Given the description of an element on the screen output the (x, y) to click on. 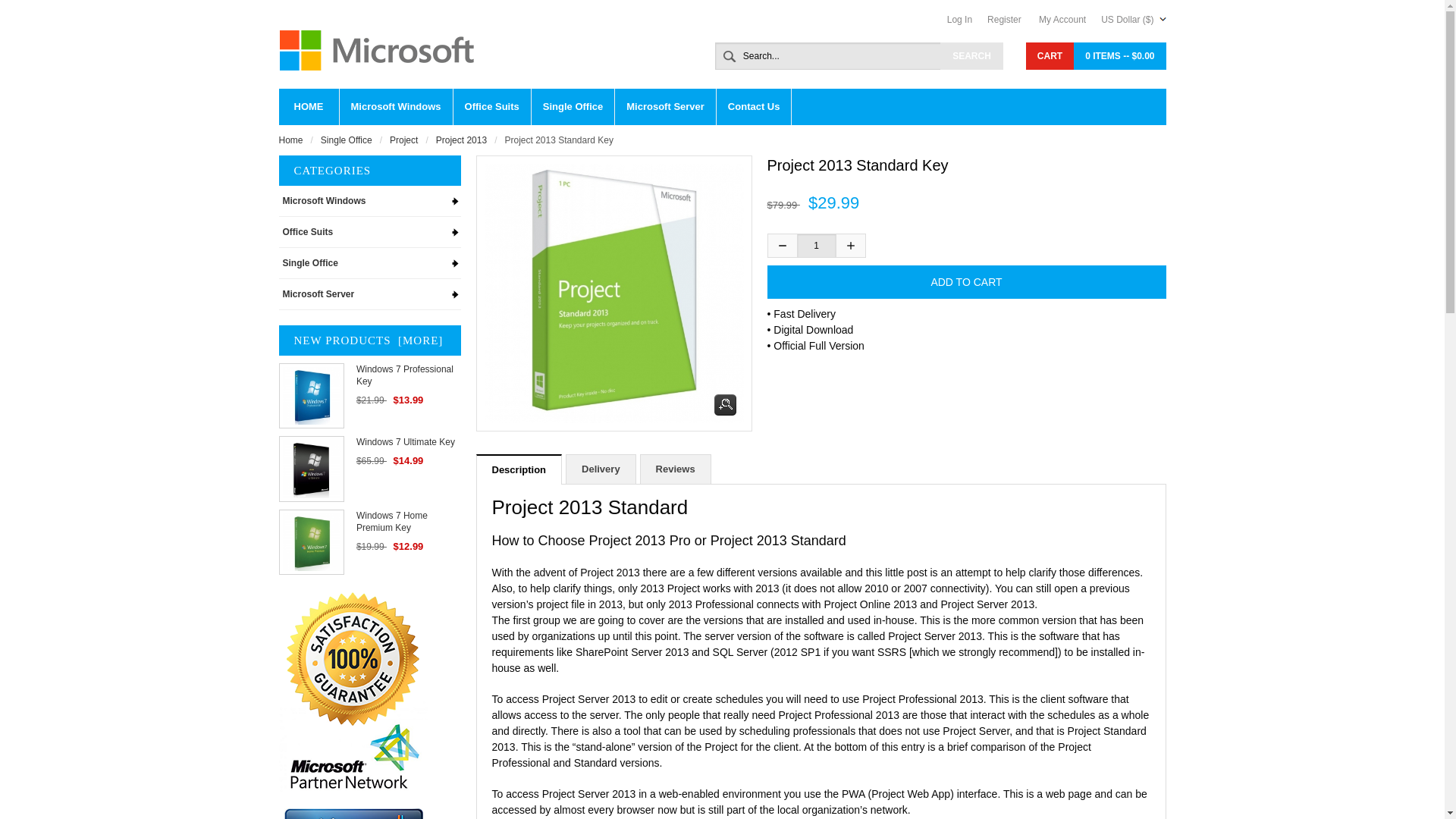
 Windows 7 Professional Key  (310, 395)
My Account (1069, 19)
Microsoft Windows (395, 106)
Search (971, 55)
Search... (858, 55)
Register (1011, 19)
Add to Cart (966, 281)
 Windows 7 Ultimate Key  (310, 468)
Office Suits (491, 106)
